Given the description of an element on the screen output the (x, y) to click on. 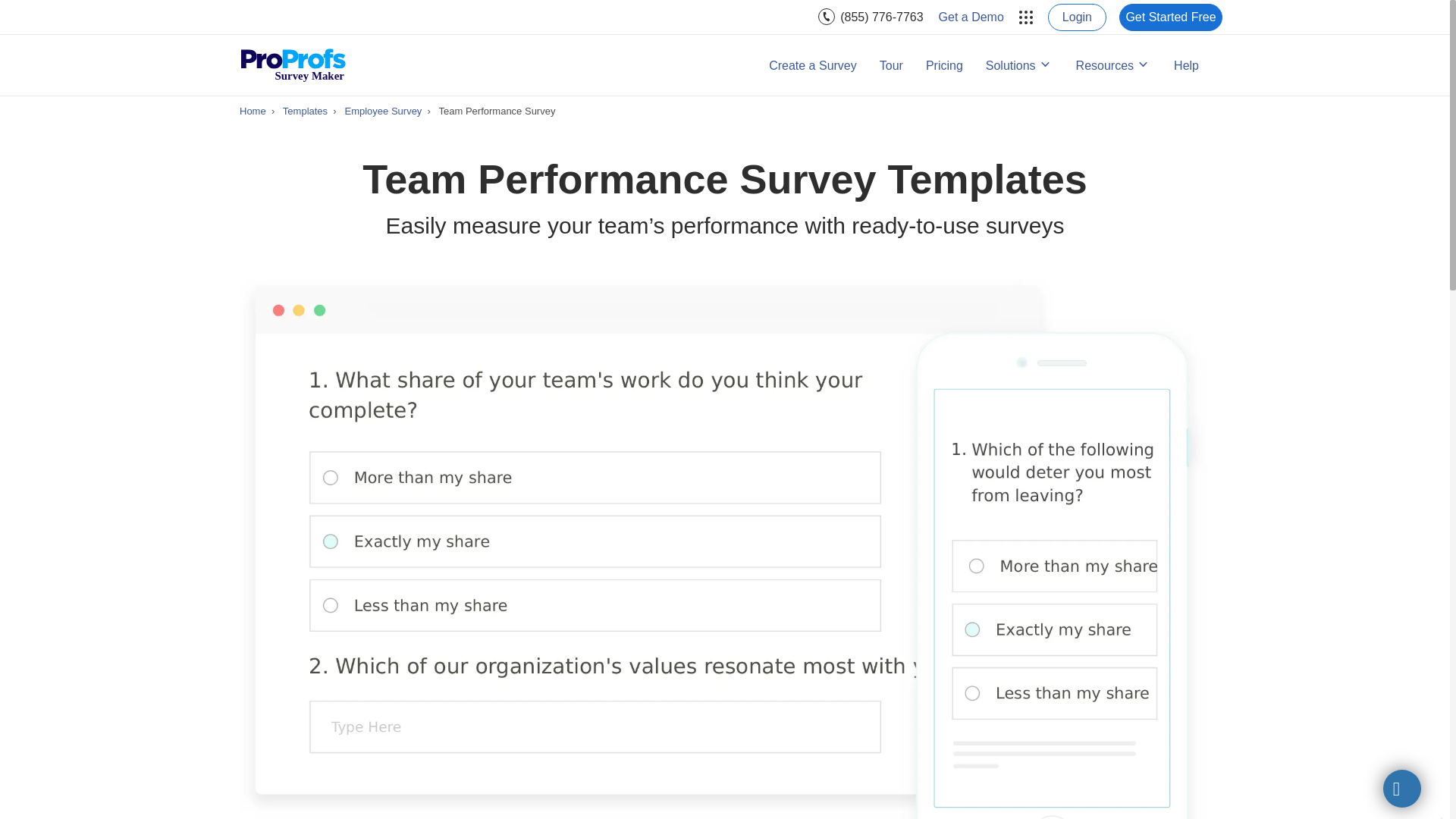
Create a Survey (812, 65)
Solutions (1019, 65)
Home (253, 111)
Survey Maker (293, 64)
Login (1077, 16)
Get Started Free (1171, 16)
Resources (1113, 65)
Get Started Free (1171, 16)
Get a Demo (971, 16)
Employee Survey (382, 111)
Survey Maker (293, 64)
Templates (304, 111)
Login (1077, 16)
